Given the description of an element on the screen output the (x, y) to click on. 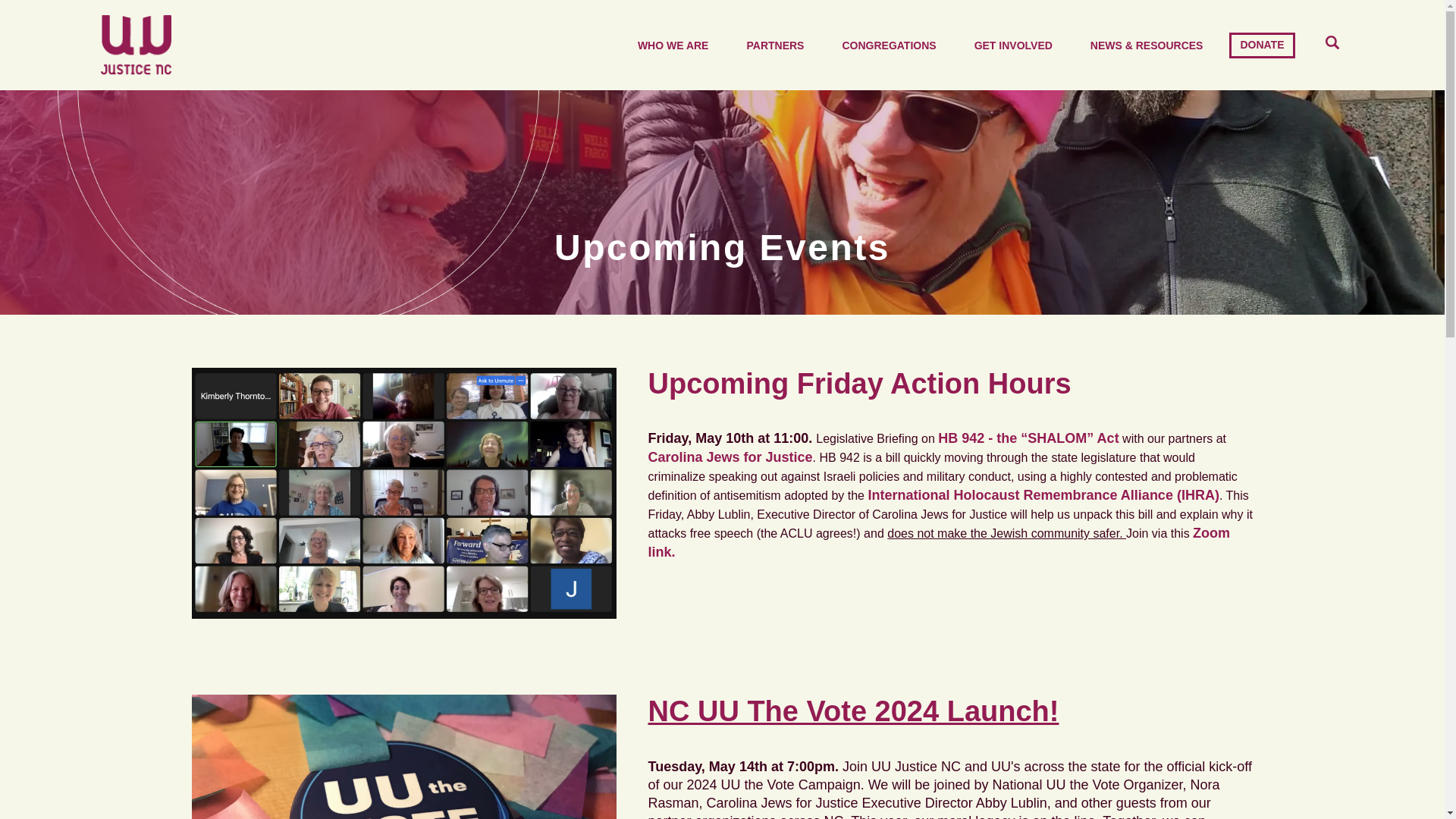
Screen Shot 2022-08-05 at 11.56.52 AM (402, 493)
NC UU The Vote 2024 Launch! (852, 711)
Zoom link. (938, 542)
PARTNERS (775, 45)
NC UU The Vote 2024 Launch! (852, 711)
GET INVOLVED (1013, 45)
UUTV Cropped (402, 756)
CONGREGATIONS (888, 45)
DONATE (1261, 45)
Carolina Jews for Justice (729, 457)
WHO WE ARE (673, 45)
